Given the description of an element on the screen output the (x, y) to click on. 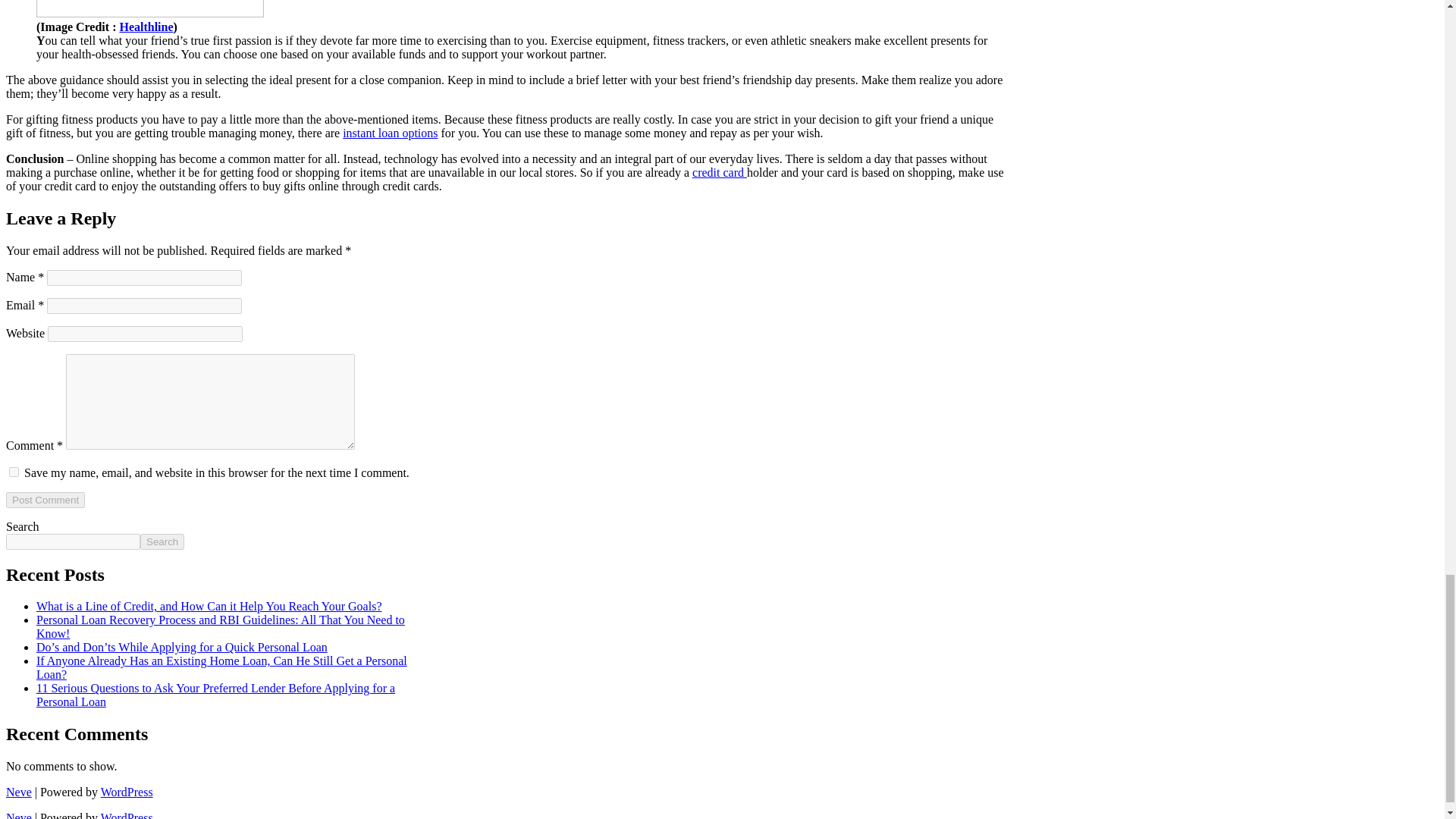
Search (161, 541)
Post Comment (44, 499)
Neve (18, 791)
WordPress (126, 791)
yes (13, 471)
Healthline (146, 26)
credit card (719, 172)
